Given the description of an element on the screen output the (x, y) to click on. 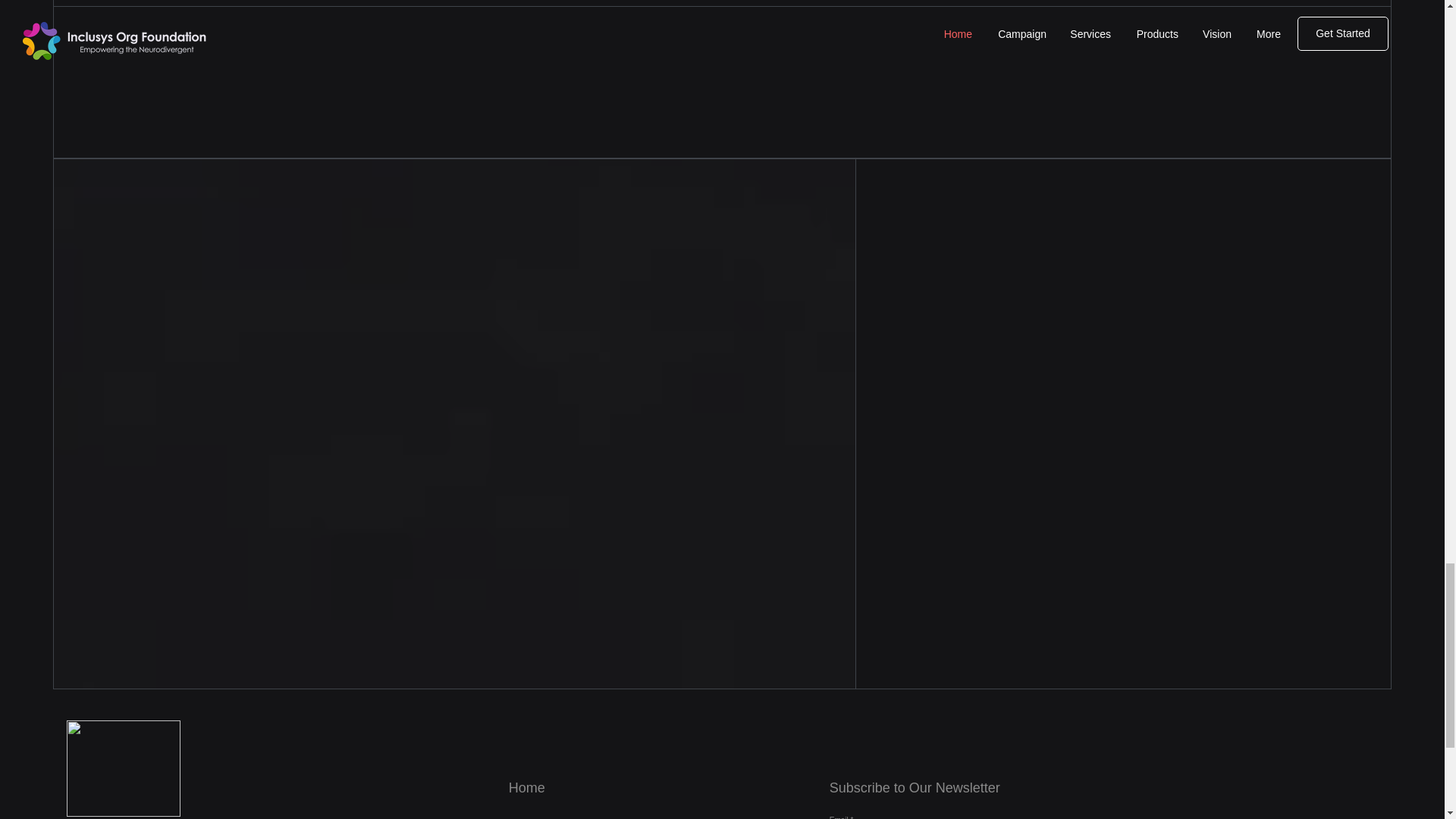
Home (526, 787)
